Given the description of an element on the screen output the (x, y) to click on. 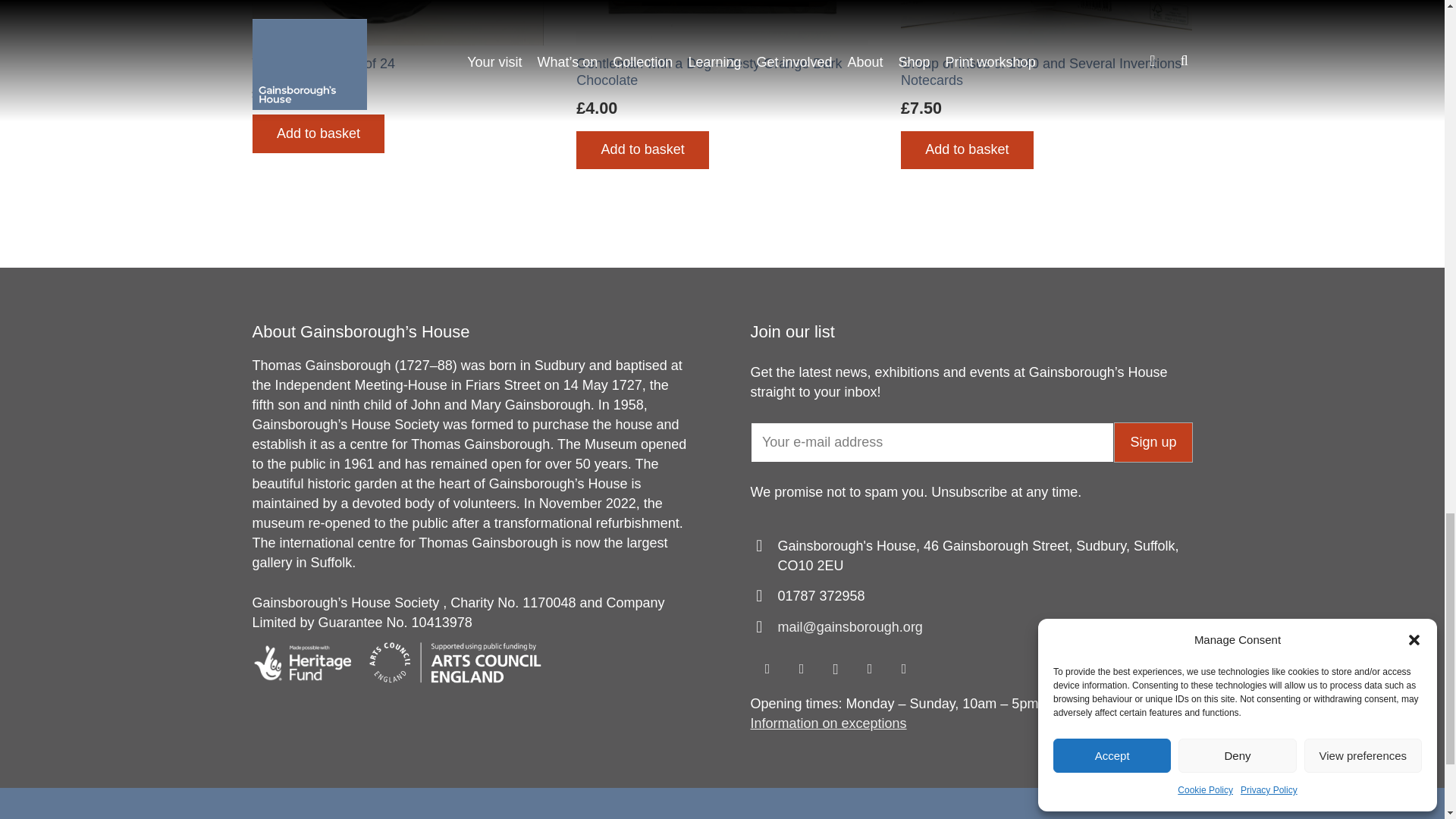
LinkedIn (868, 668)
Sign up (1152, 441)
Twitter (801, 668)
TikTok (903, 668)
Instagram (835, 668)
Facebook (767, 668)
